Given the description of an element on the screen output the (x, y) to click on. 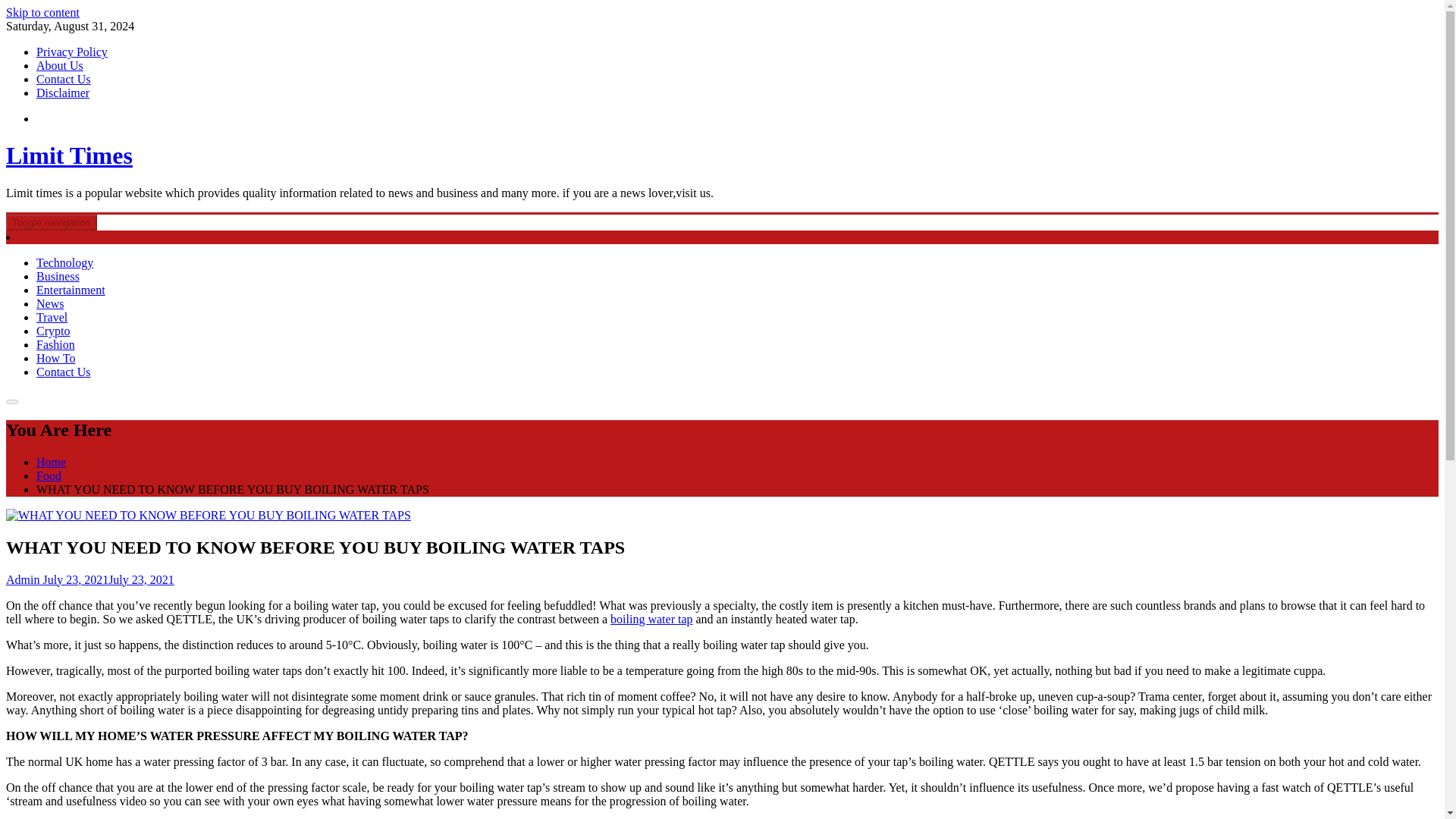
July 23, 2021July 23, 2021 (106, 579)
Technology (64, 262)
Admin (22, 579)
Business (58, 276)
Skip to content (42, 11)
News (50, 303)
Contact Us (63, 371)
Entertainment (70, 289)
About Us (59, 65)
Contact Us (63, 78)
